Given the description of an element on the screen output the (x, y) to click on. 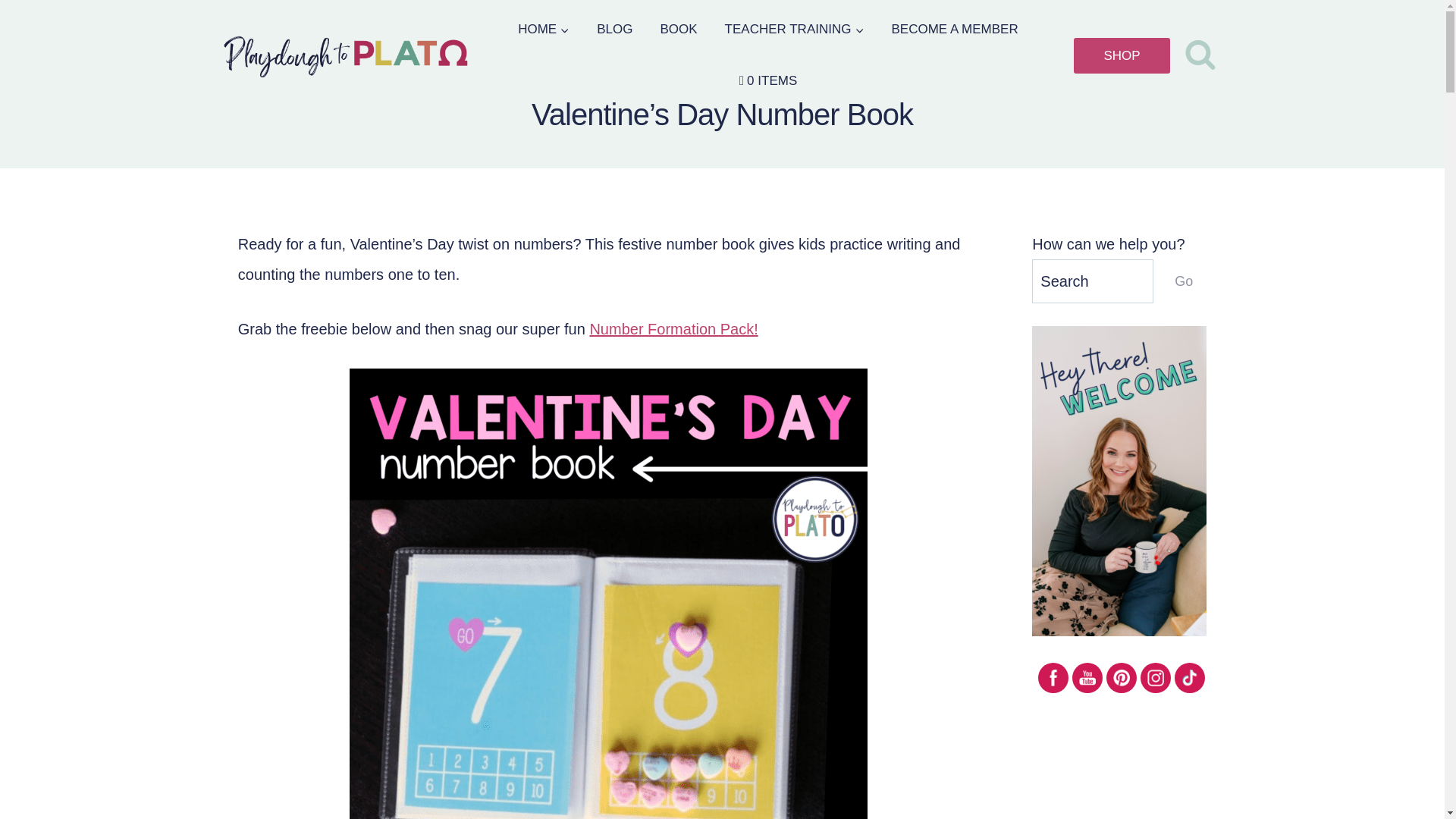
BLOG (614, 29)
HOME (543, 29)
BOOK (678, 29)
Pinterest (1121, 677)
Start shopping (767, 81)
Facebook (1053, 677)
Instagram (1155, 677)
YouTube (1087, 677)
TEACHER TRAINING (794, 29)
Number Formation Pack! (673, 329)
